Given the description of an element on the screen output the (x, y) to click on. 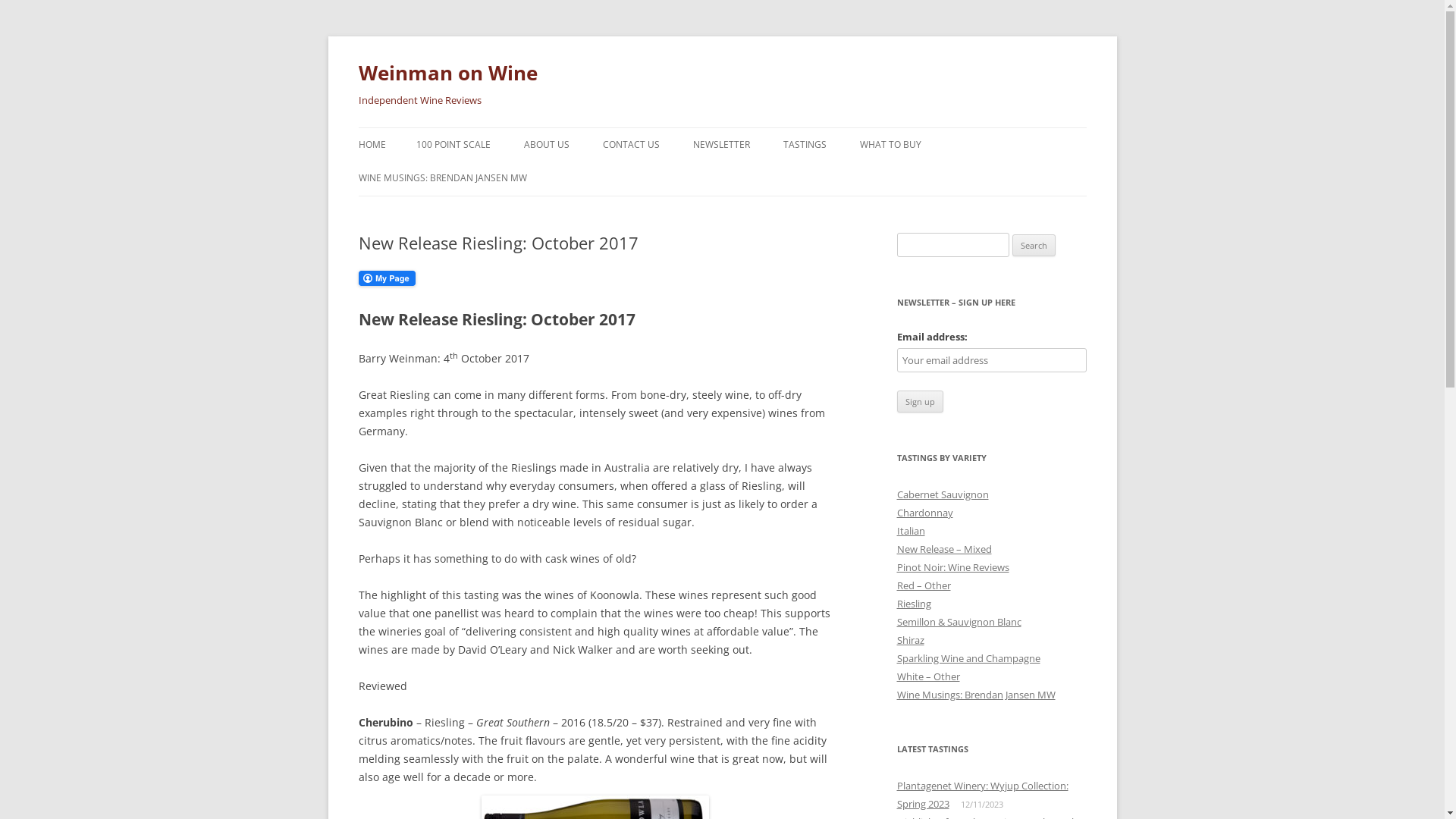
Weinman on Wine Element type: text (446, 72)
WINE MUSINGS: BRENDAN JANSEN MW Element type: text (441, 177)
Semillon & Sauvignon Blanc Element type: text (958, 621)
Wine Musings: Brendan Jansen MW Element type: text (975, 694)
Plantagenet Winery: Wyjup Collection: Spring 2023 Element type: text (981, 794)
ABOUT US Element type: text (545, 144)
Chardonnay Element type: text (924, 512)
Riesling Element type: text (913, 603)
HOME Element type: text (371, 144)
Search Element type: text (1033, 245)
100 POINT SCALE Element type: text (452, 144)
Pinot Noir: Wine Reviews Element type: text (952, 567)
Skip to content Element type: text (721, 127)
Sparkling Wine and Champagne Element type: text (967, 658)
TASTINGS Element type: text (803, 144)
CONTACT US Element type: text (630, 144)
Sign up Element type: text (919, 401)
WHAT TO BUY Element type: text (890, 144)
NEWSLETTER Element type: text (721, 144)
Shiraz Element type: text (909, 639)
Cabernet Sauvignon Element type: text (942, 494)
CABERNET SAUVIGNON Element type: text (858, 176)
Italian Element type: text (910, 530)
